Given the description of an element on the screen output the (x, y) to click on. 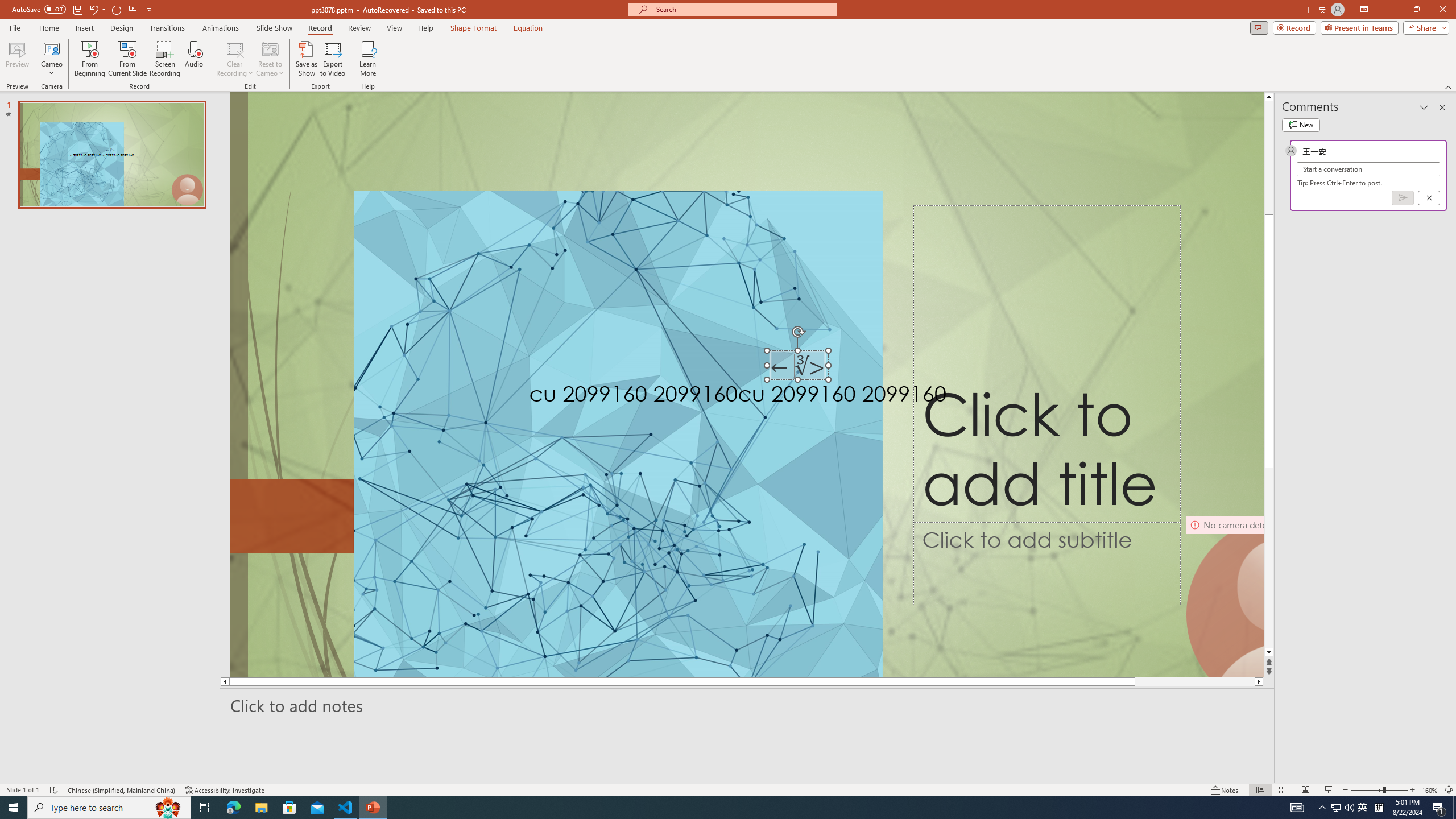
Camera 9, No camera detected. (1224, 595)
Start a conversation (1368, 168)
